Given the description of an element on the screen output the (x, y) to click on. 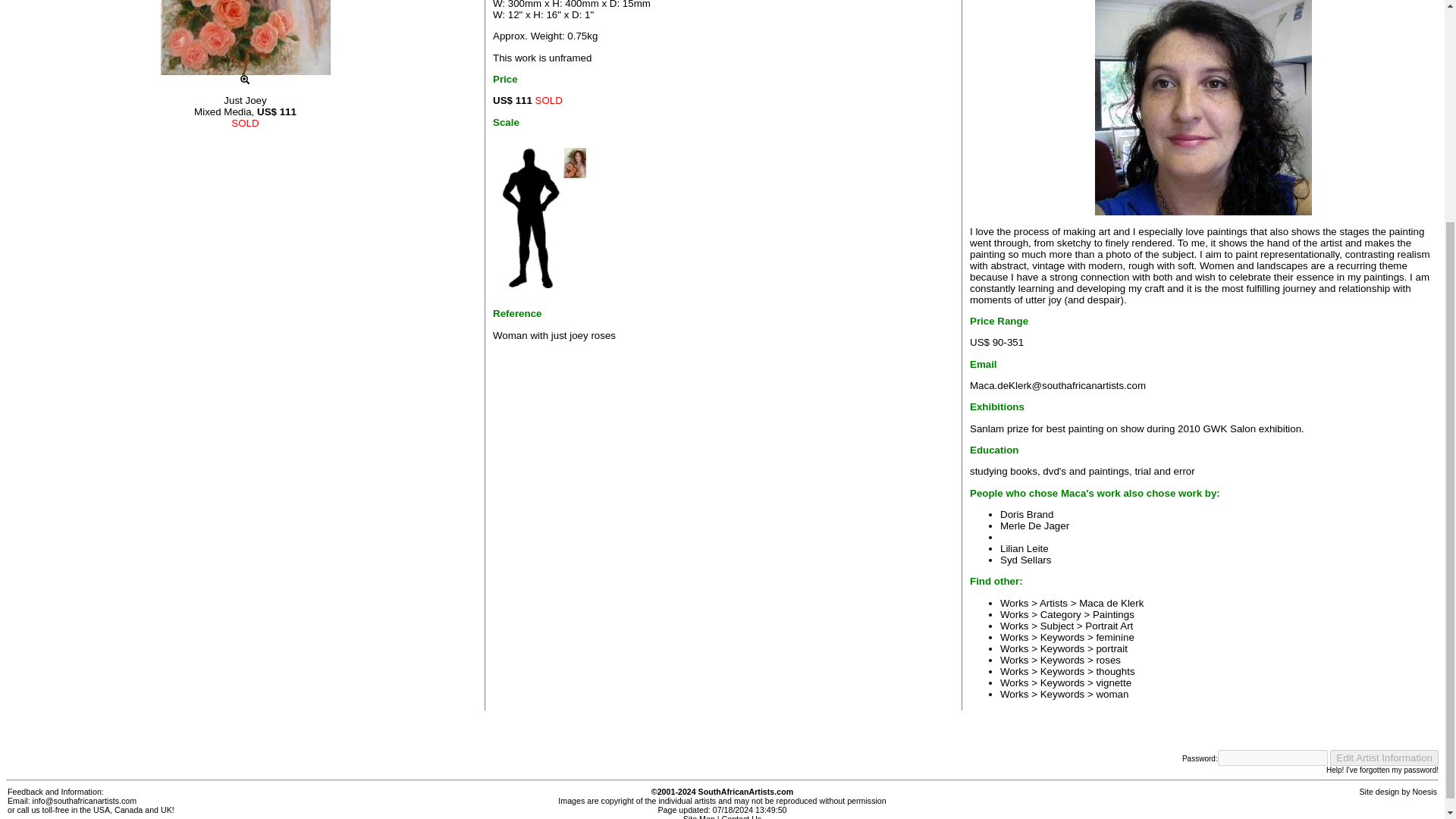
"Just Joey" (245, 37)
Merle De Jager (1034, 525)
View Large Image (245, 80)
Maca de Klerk (1202, 107)
Doris Brand (1026, 514)
